Given the description of an element on the screen output the (x, y) to click on. 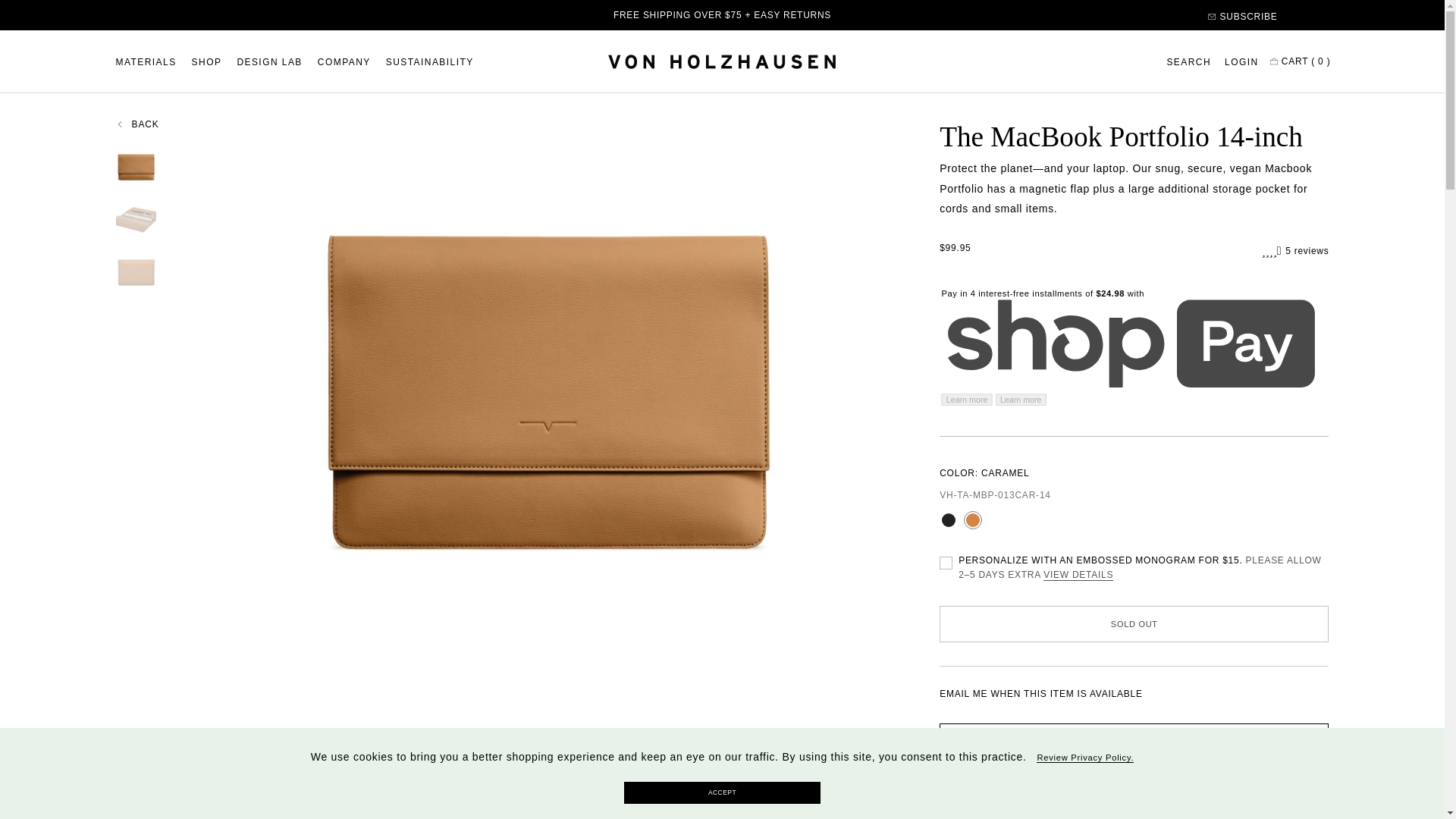
The MacBook Portfolio 14-inch in Caramel (972, 520)
Women (1088, 812)
The MacBook Portfolio 14-inch in Black (948, 520)
Men (1146, 812)
